Given the description of an element on the screen output the (x, y) to click on. 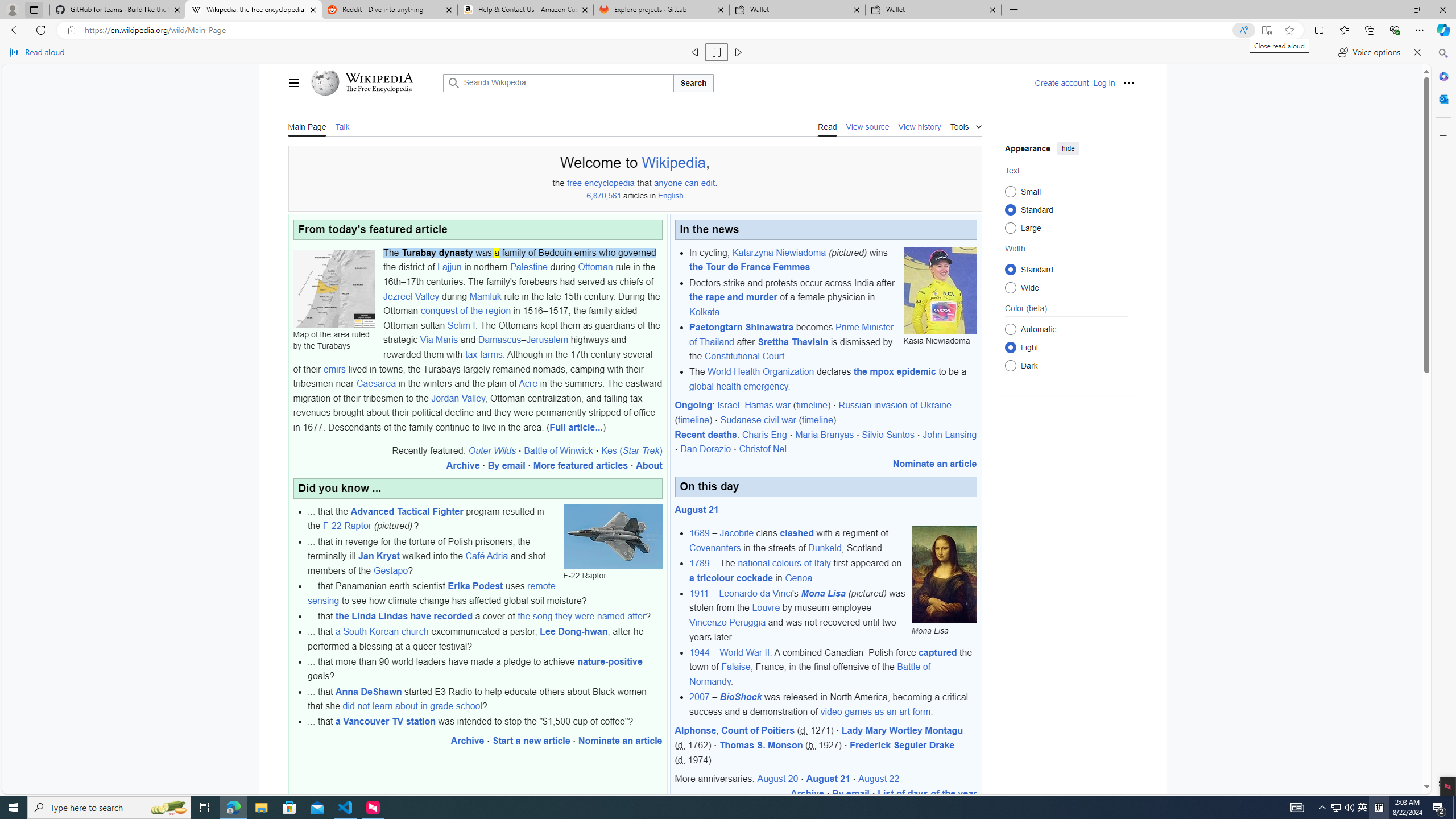
Turabay dynasty (436, 252)
Christof Nel (762, 448)
Russian invasion of Ukraine (895, 405)
Katarzyna Niewiadoma (779, 252)
Tools (965, 125)
Anna DeShawn (367, 691)
